Given the description of an element on the screen output the (x, y) to click on. 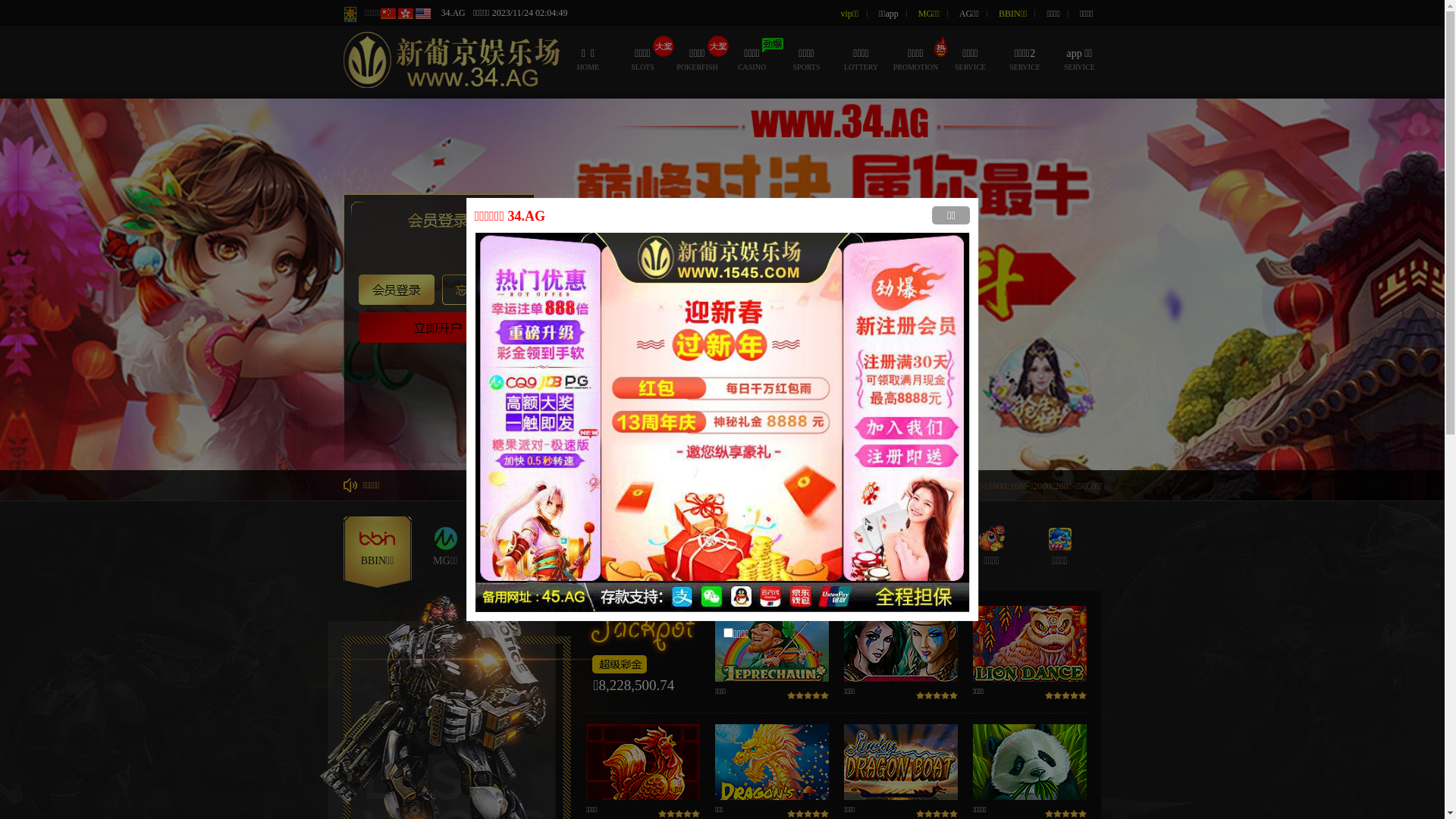
34.AG Element type: text (452, 12)
